Given the description of an element on the screen output the (x, y) to click on. 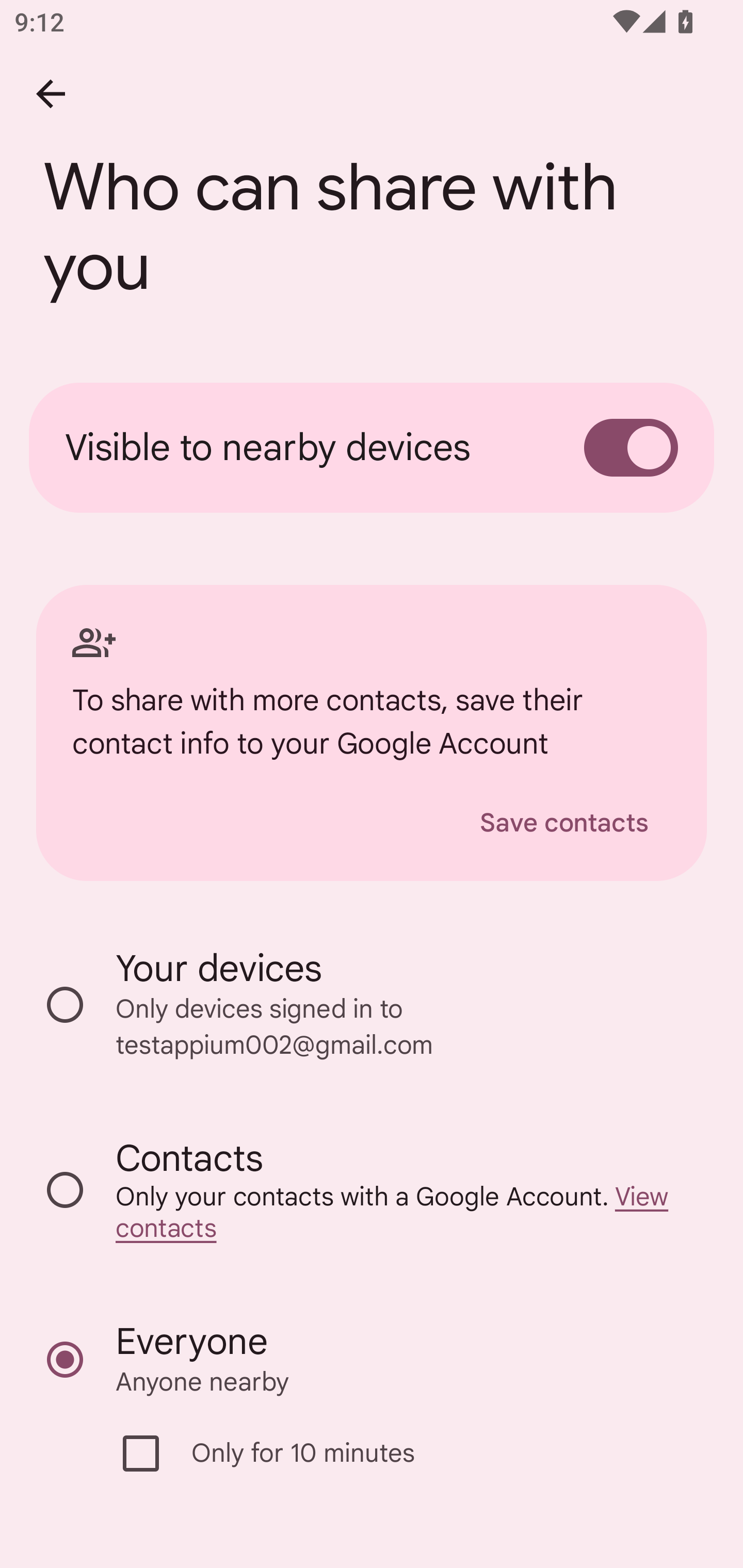
Back (50, 93)
Visible to nearby devices (371, 447)
Save contacts (564, 823)
Only for 10 minutes (382, 1453)
